Given the description of an element on the screen output the (x, y) to click on. 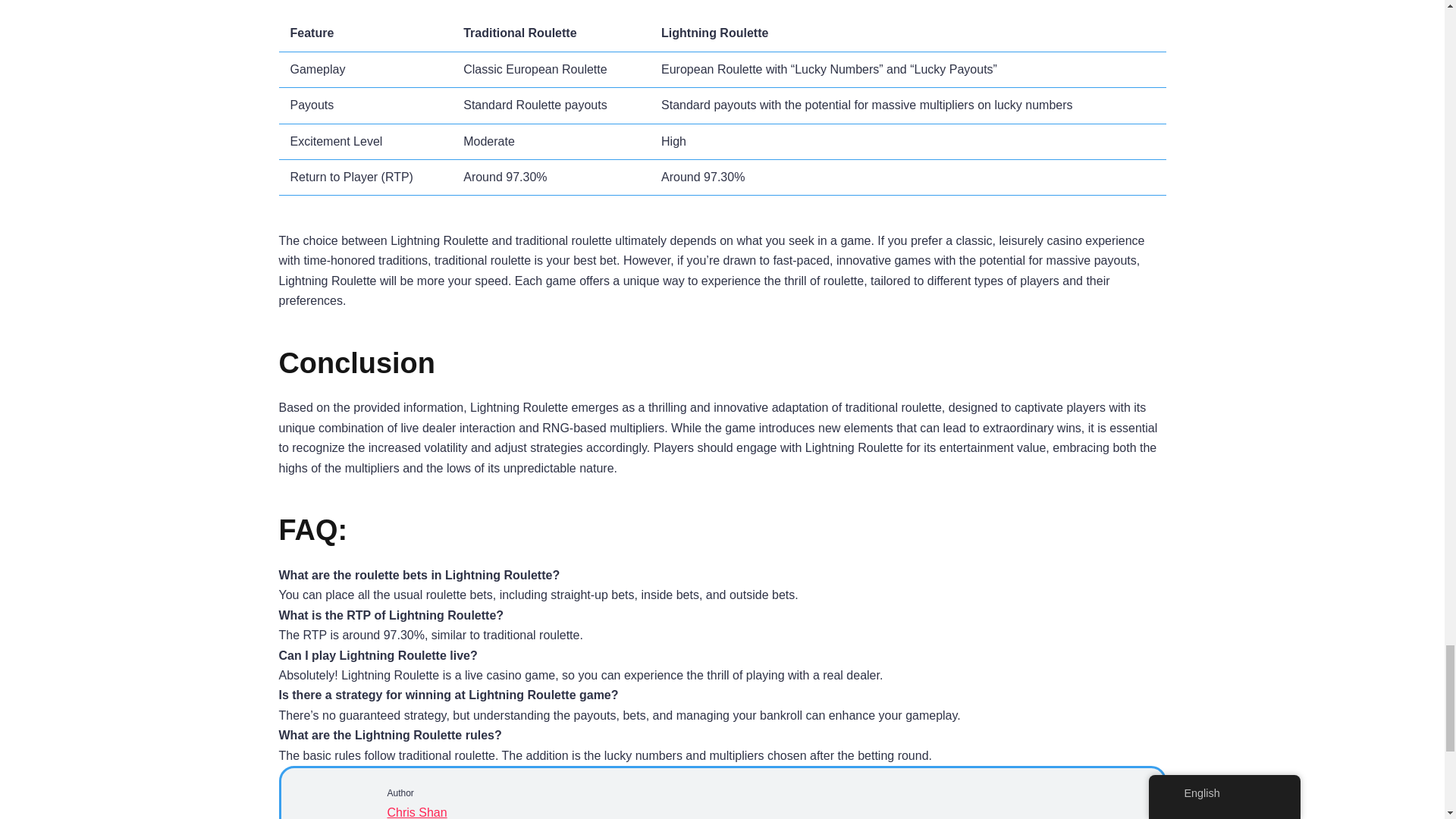
Chris Shan (416, 812)
